Given the description of an element on the screen output the (x, y) to click on. 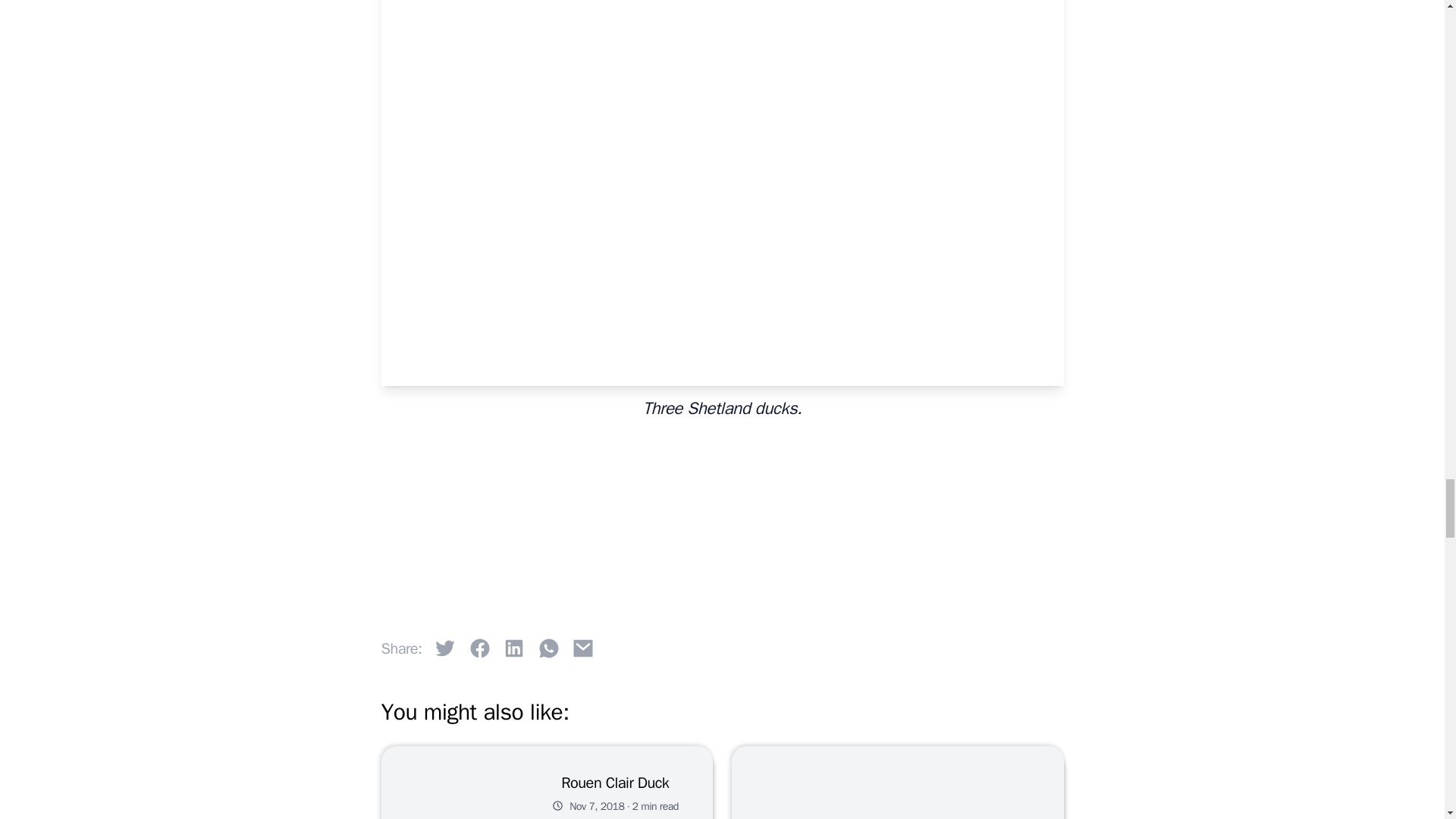
Linkedin Share (513, 648)
Whatsapp Share (548, 648)
Twitter Share (445, 648)
Email Share (583, 648)
Facebook Share (480, 648)
